Given the description of an element on the screen output the (x, y) to click on. 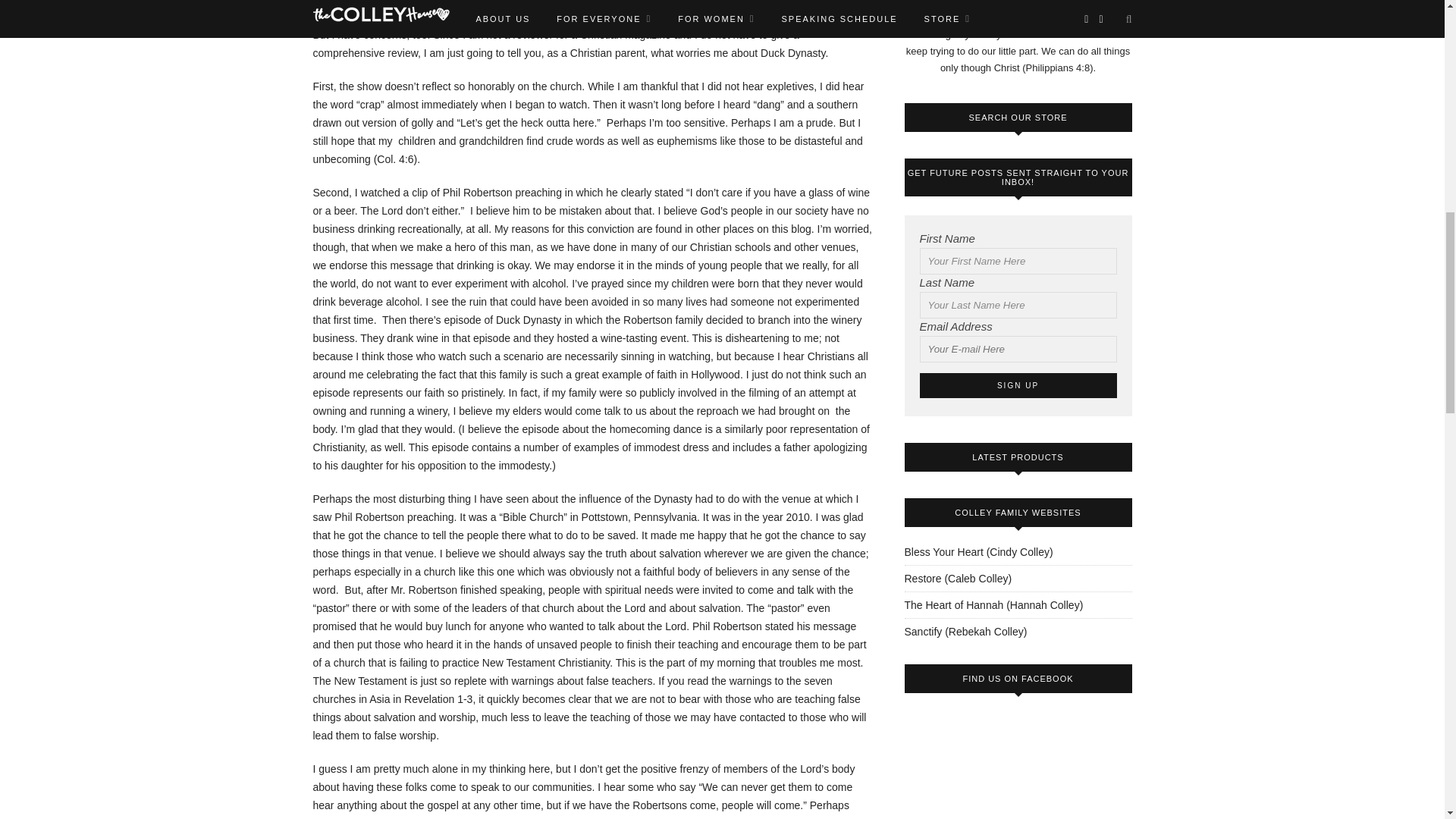
Your First Name Here (1017, 261)
Your Last Name Here (1017, 304)
Sign up (1017, 385)
